Given the description of an element on the screen output the (x, y) to click on. 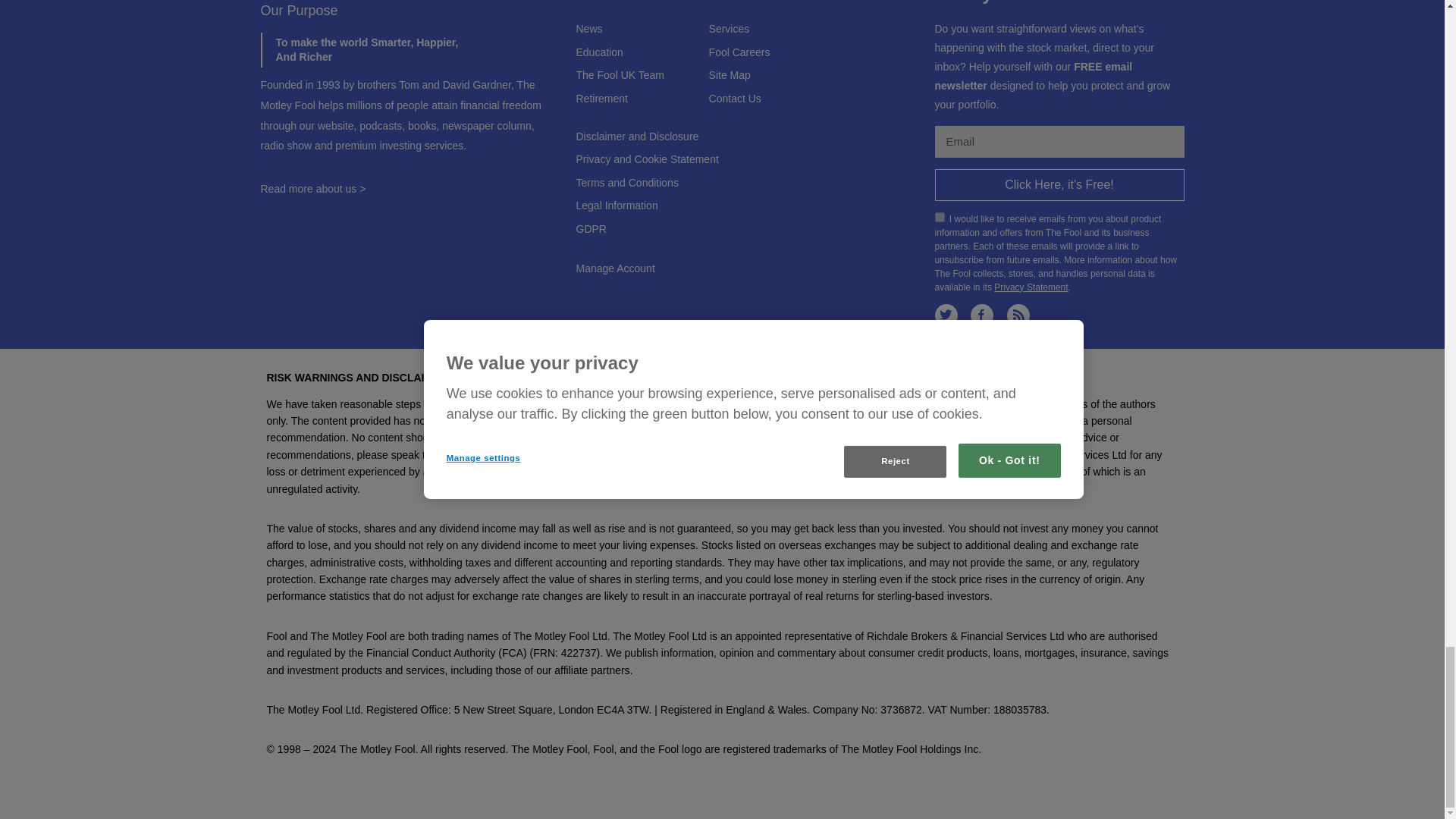
true (938, 216)
